Given the description of an element on the screen output the (x, y) to click on. 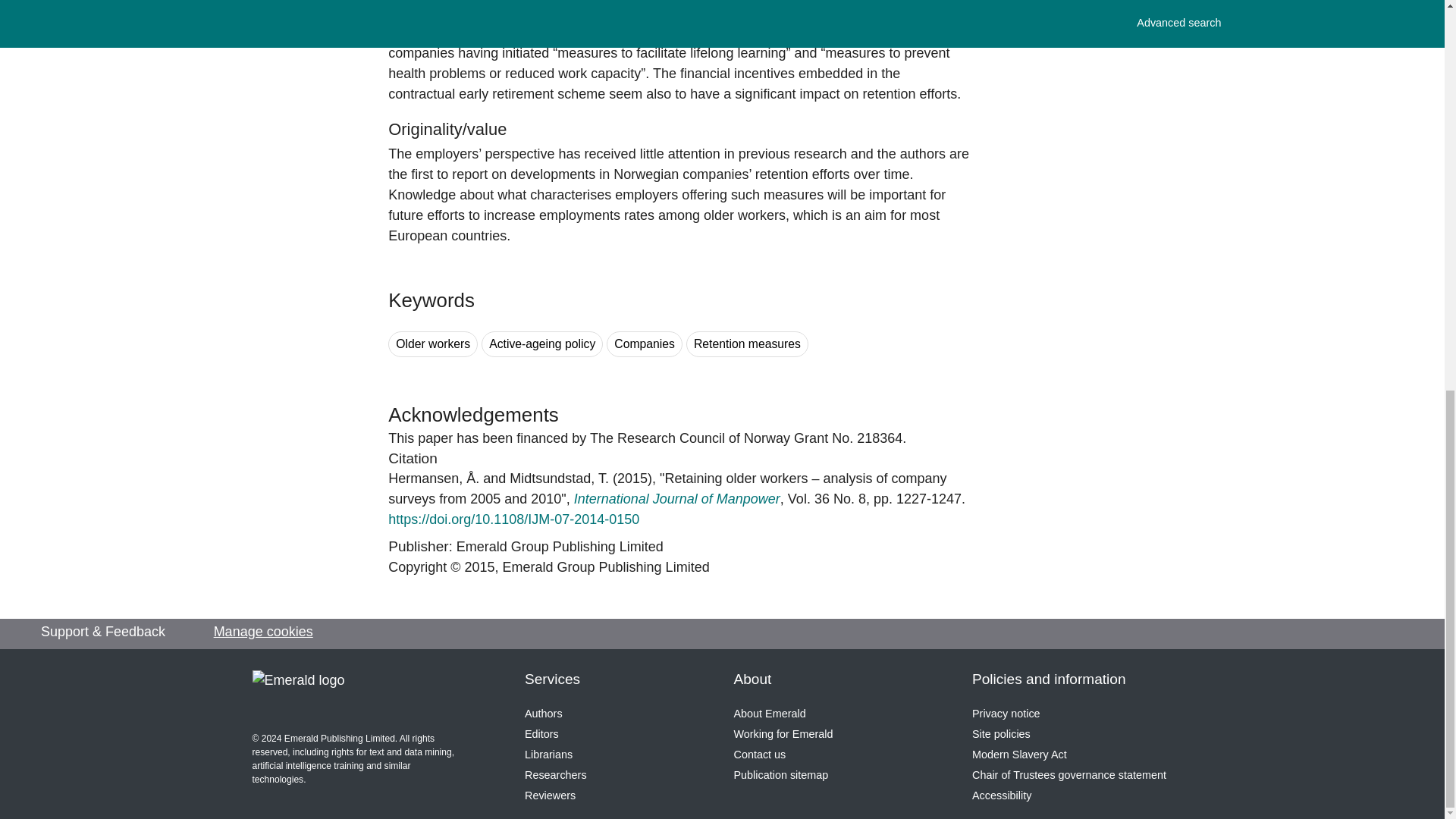
About Emerald (769, 713)
Authors (543, 713)
Search for keyword Active-ageing policy (541, 344)
Active-ageing policy (541, 344)
Search for keyword Companies (644, 344)
Retention measures (746, 344)
Search for keyword Older workers (432, 344)
Librarians (548, 754)
Tove Midtsundstad (558, 478)
Researchers (555, 775)
